Given the description of an element on the screen output the (x, y) to click on. 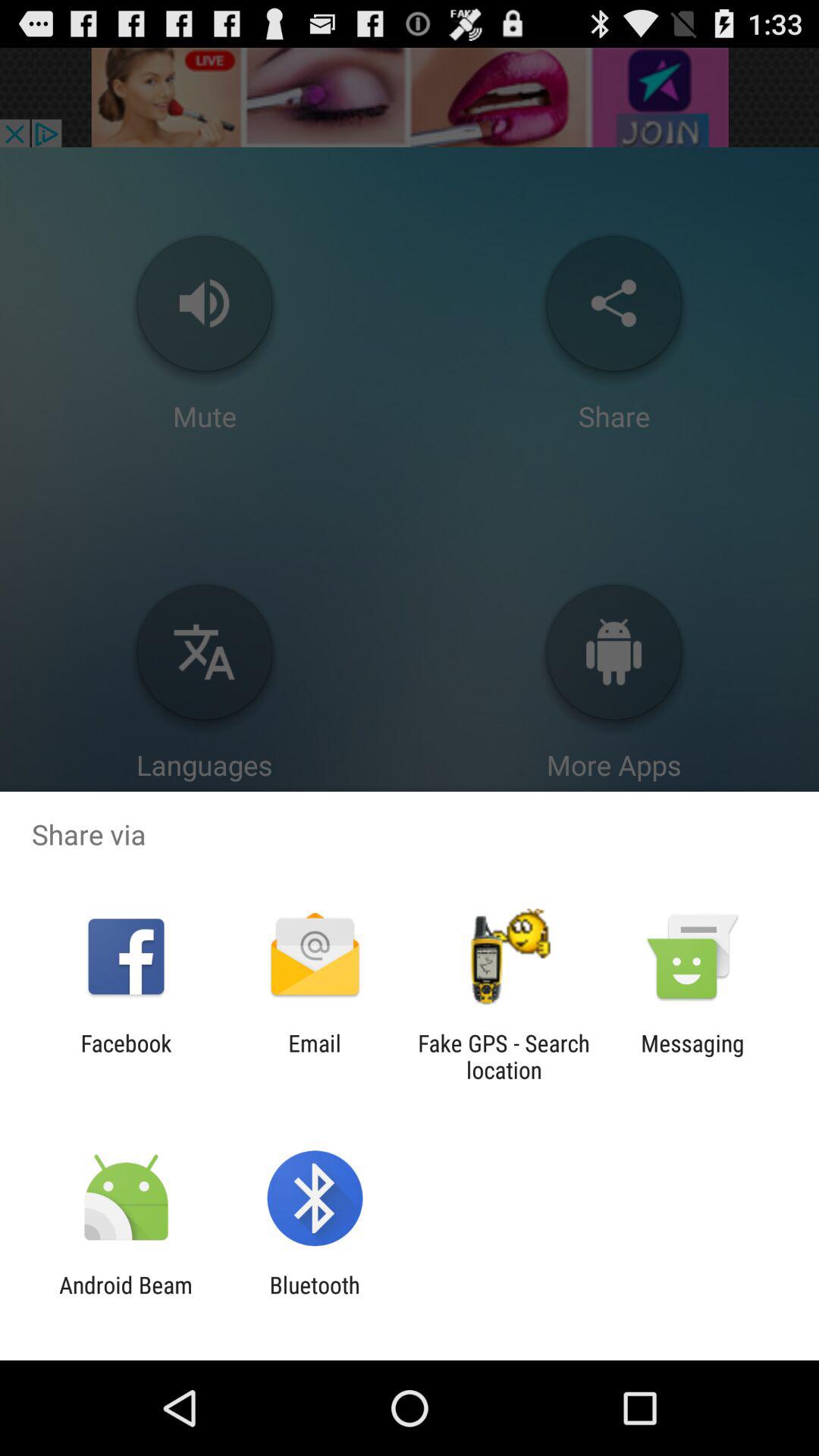
click the item next to bluetooth app (125, 1298)
